Given the description of an element on the screen output the (x, y) to click on. 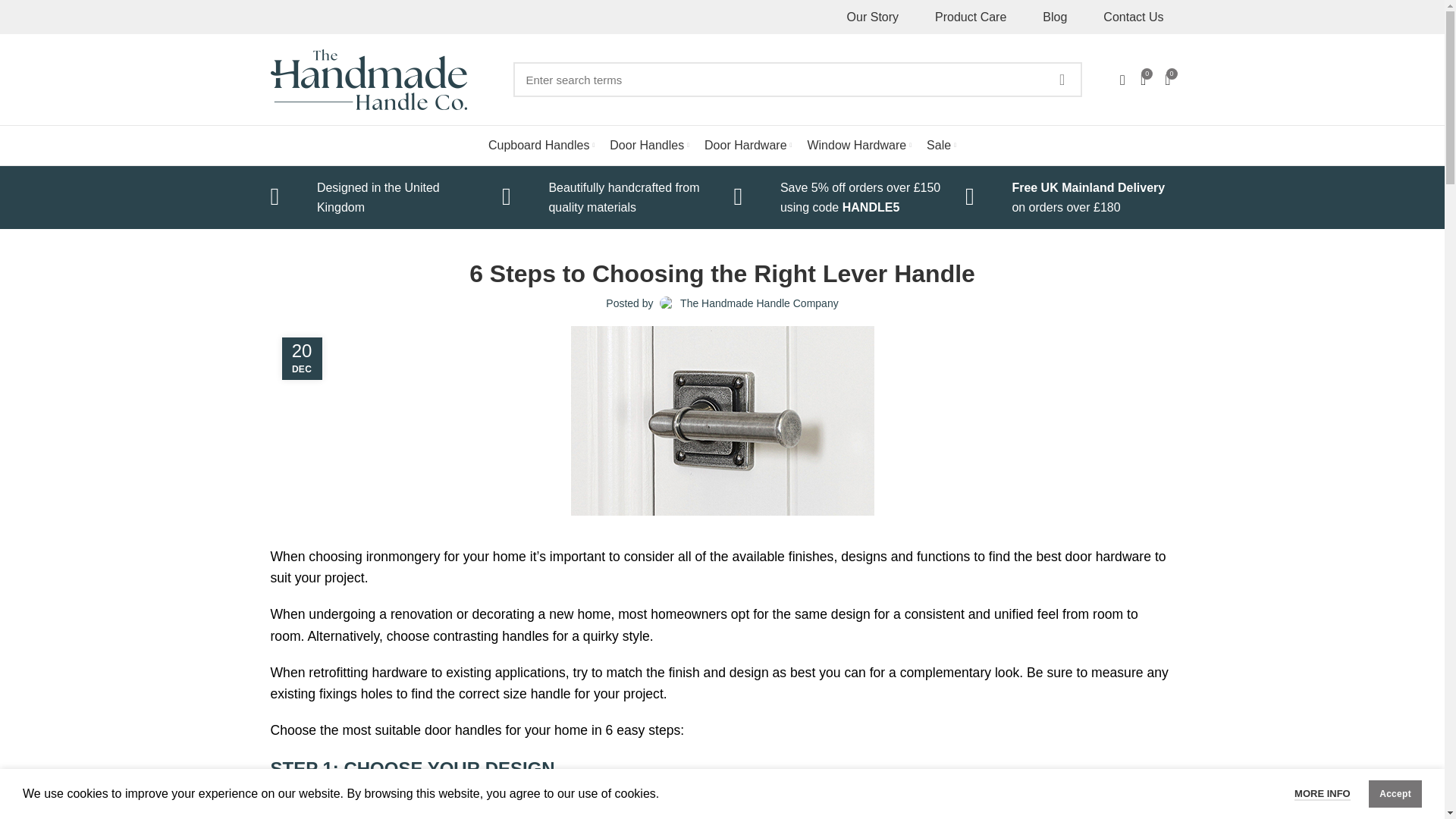
Contact Us (1132, 17)
Search (1061, 79)
Our Story (872, 17)
Door Handles (649, 145)
Blog (1054, 17)
Enter search terms (796, 79)
Product Care (971, 17)
Cupboard Handles (541, 145)
